Given the description of an element on the screen output the (x, y) to click on. 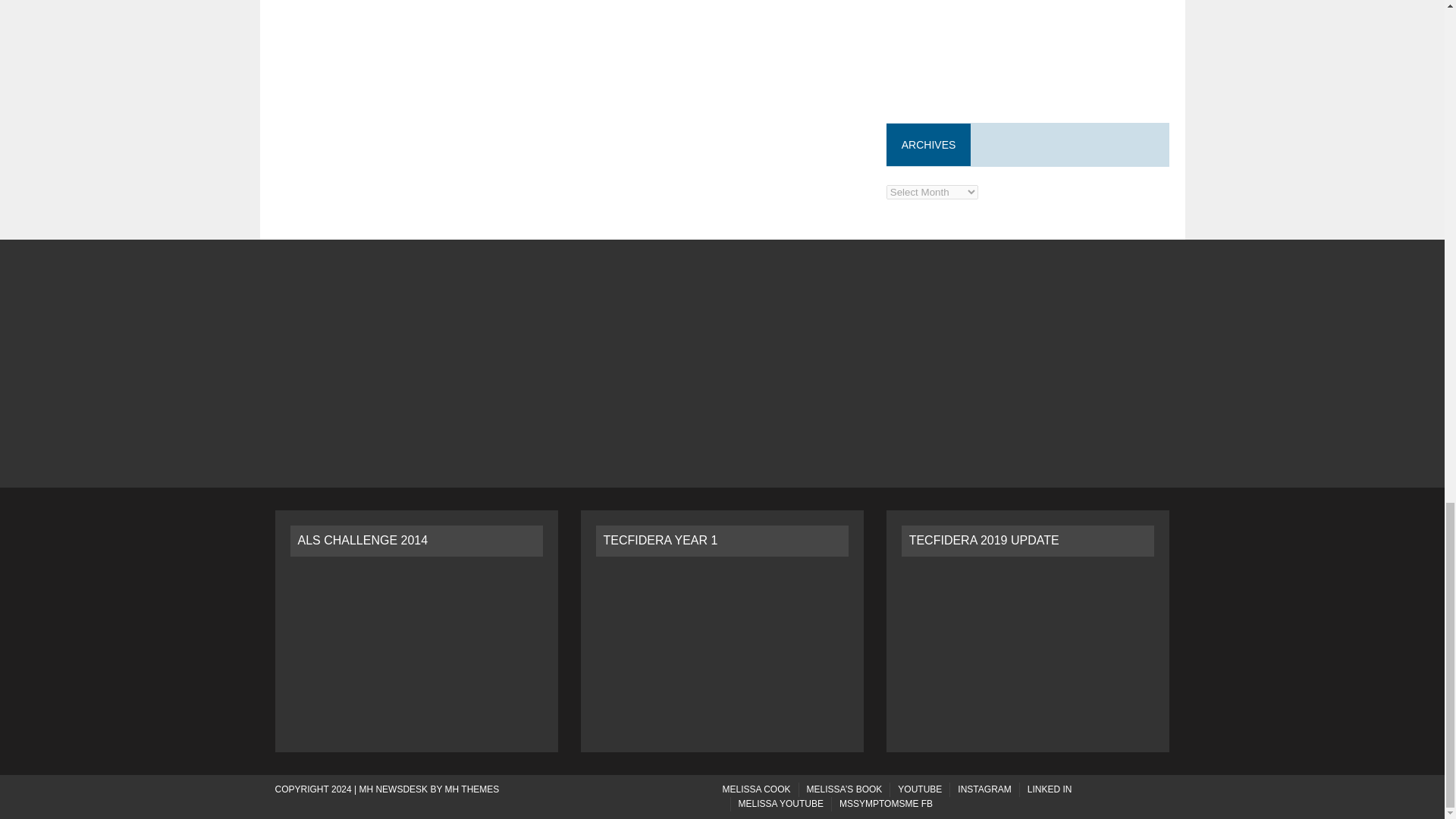
Premium Magazine WordPress Themes (472, 788)
Wyoming Jeepers (920, 789)
